Given the description of an element on the screen output the (x, y) to click on. 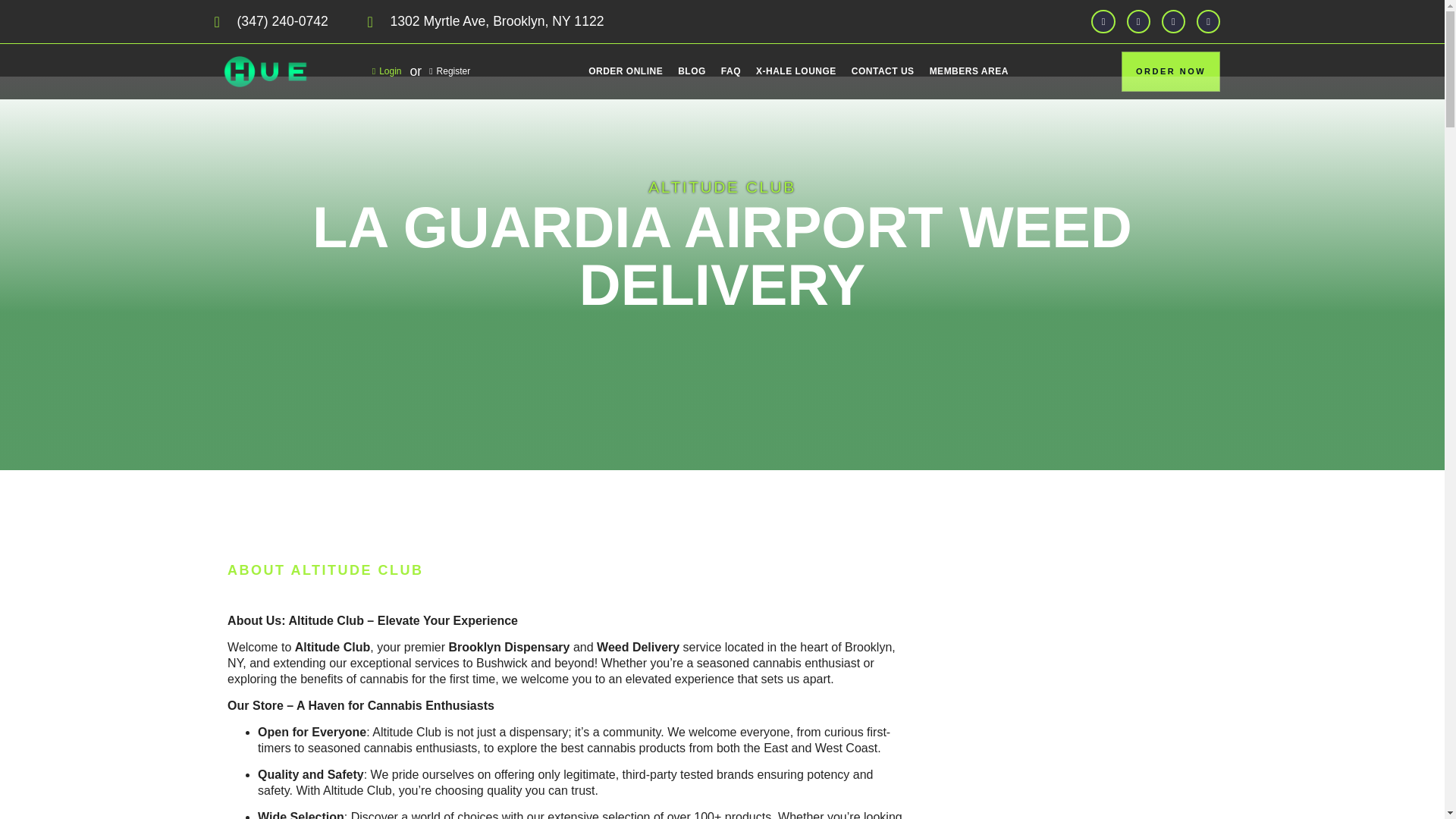
Register (446, 71)
Login (391, 71)
BLOG (691, 71)
LA GUARDIA AIRPORT WEED DELIVERY (722, 255)
CONTACT US (882, 71)
MEMBERS AREA (968, 71)
1302 Myrtle Ave, Brooklyn, NY 1122 (521, 21)
ORDER ONLINE (624, 71)
FAQ (730, 71)
X-HALE LOUNGE (796, 71)
